Given the description of an element on the screen output the (x, y) to click on. 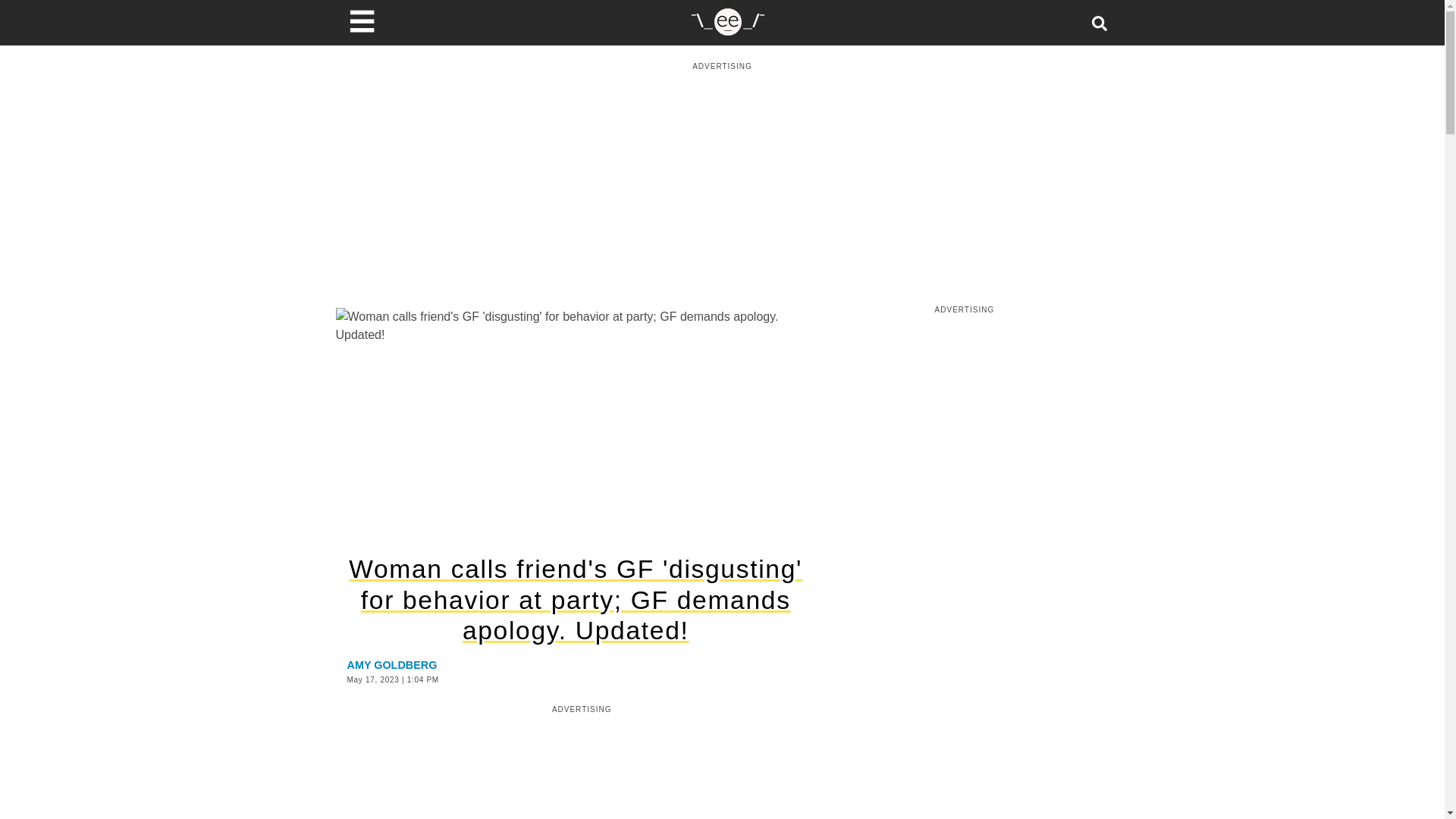
AMY GOLDBERG (392, 664)
